Given the description of an element on the screen output the (x, y) to click on. 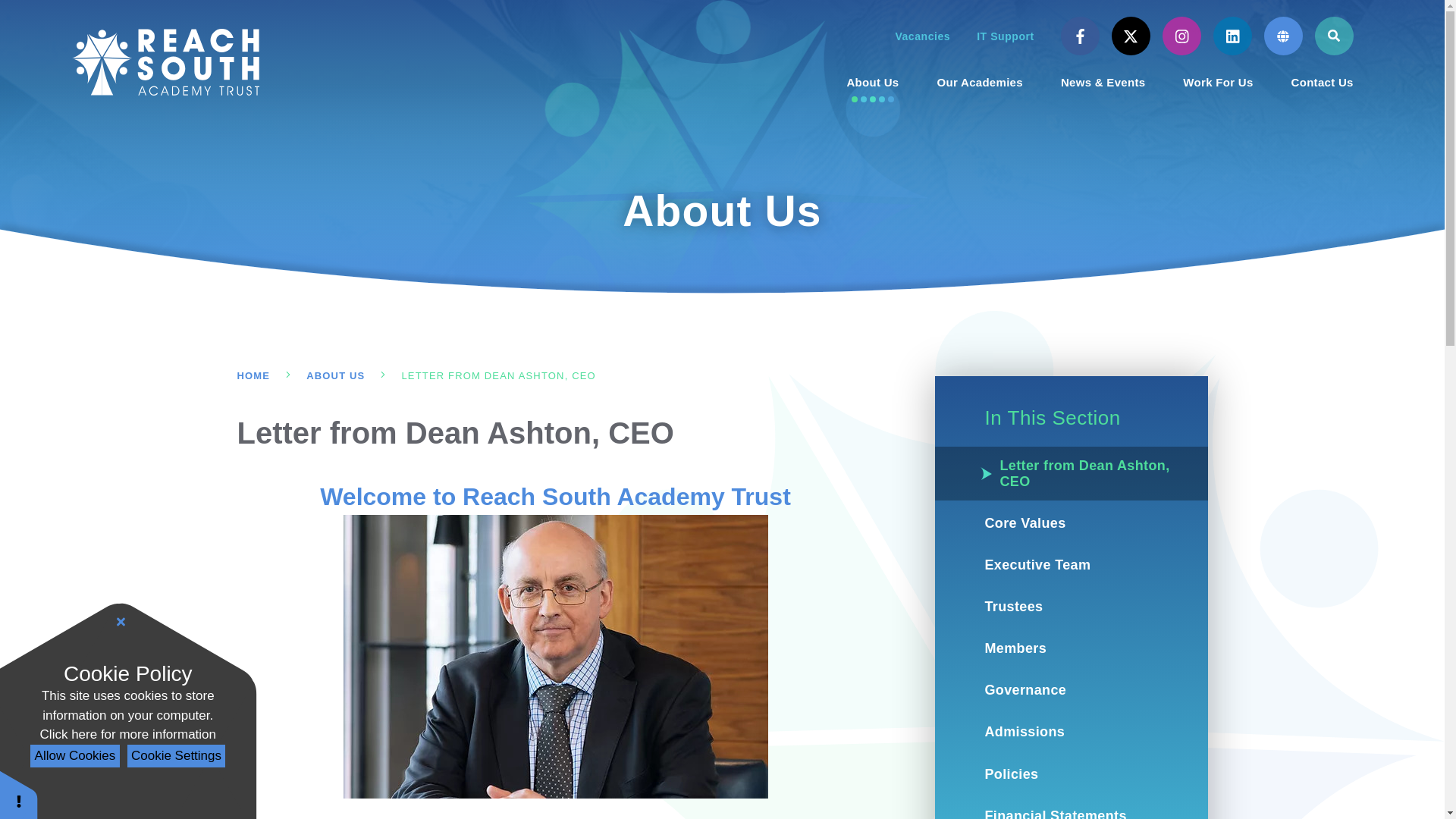
About Us (872, 82)
Vacancies (922, 36)
IT Support (1004, 36)
